Given the description of an element on the screen output the (x, y) to click on. 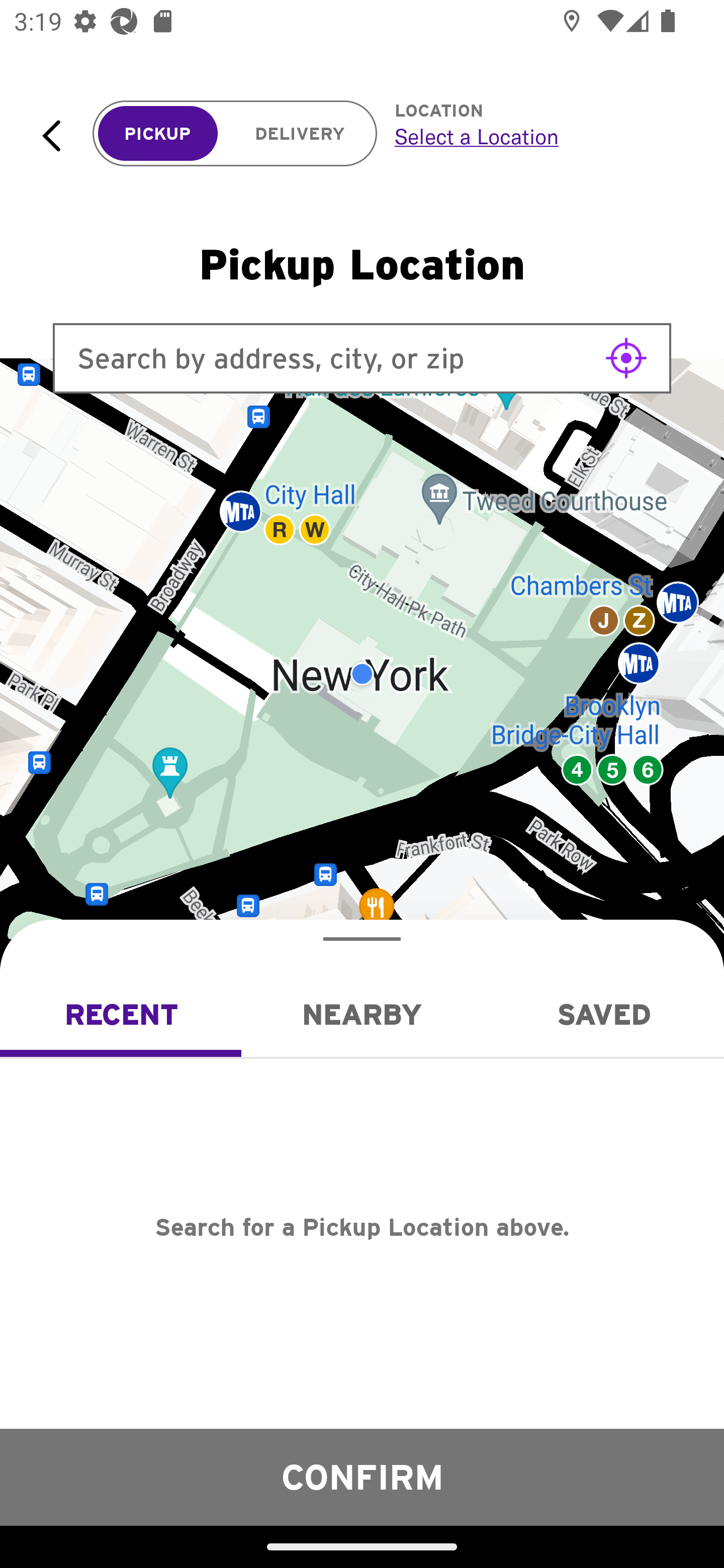
PICKUP (157, 133)
DELIVERY (299, 133)
Select a Location (536, 136)
Search by address, city, or zip (361, 358)
Google Map (362, 674)
Nearby NEARBY (361, 1014)
Saved SAVED (603, 1014)
CONFIRM (362, 1476)
